Given the description of an element on the screen output the (x, y) to click on. 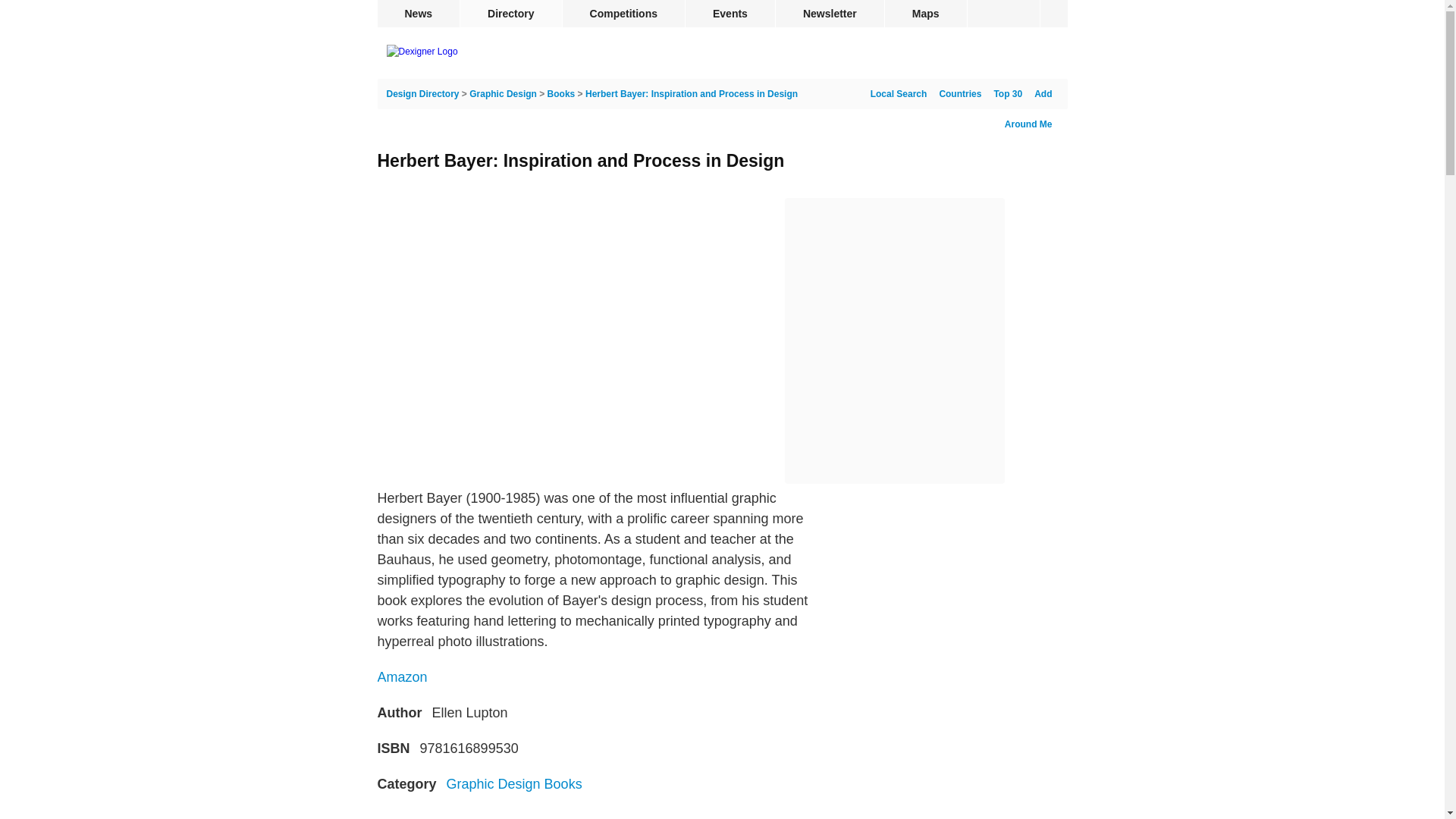
Herbert Bayer: Inspiration and Process in Design (691, 93)
Design Directory (423, 93)
Events (729, 13)
Top 30 (1004, 93)
Competitions (623, 13)
Newsletter (829, 13)
Around Me (1028, 123)
Books (561, 93)
Countries (957, 93)
follow dexigner (1054, 13)
